Given the description of an element on the screen output the (x, y) to click on. 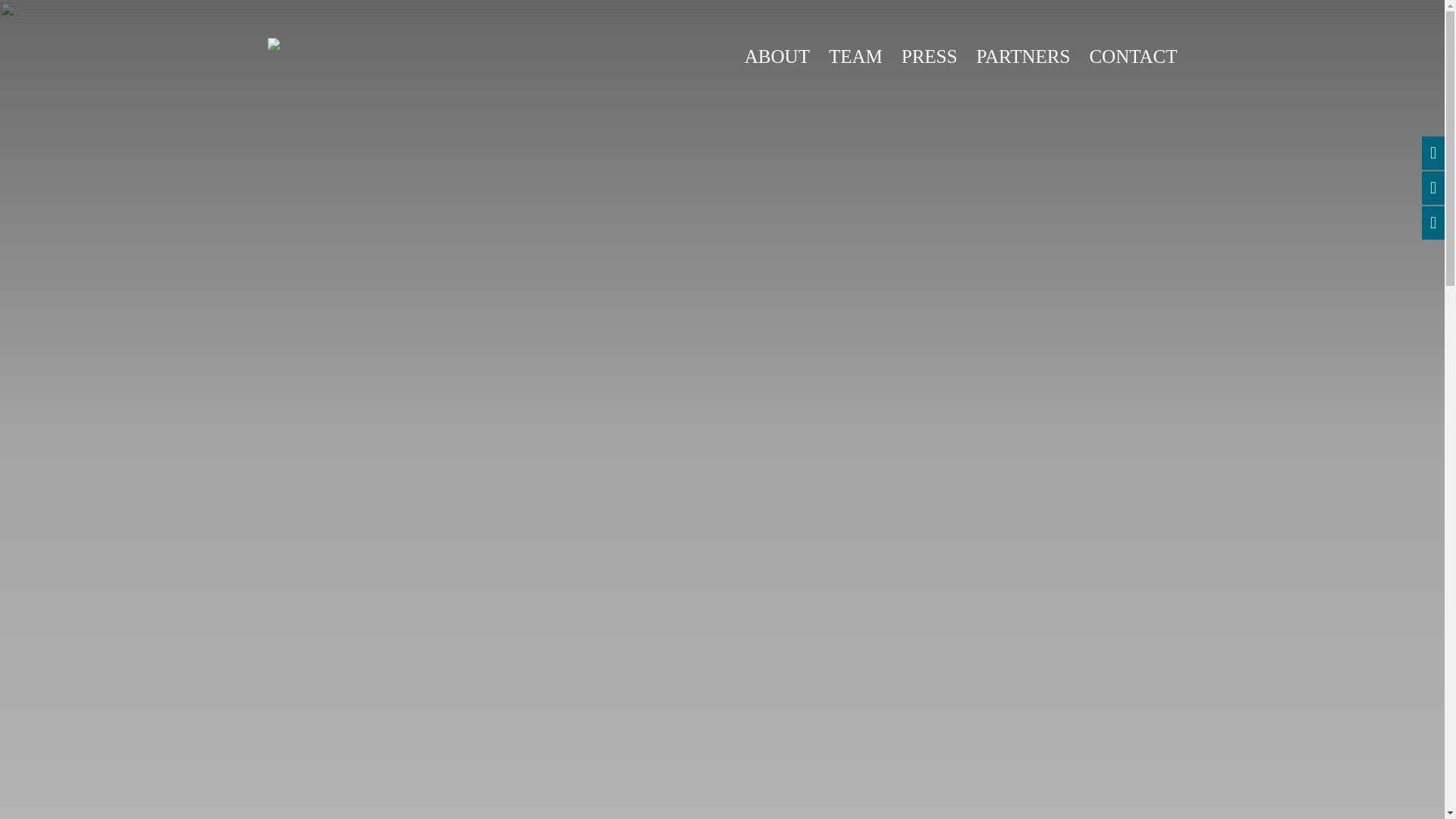
TEAM (855, 55)
PARTNERS (1022, 55)
CONTACT (1132, 55)
PRESS (929, 55)
ABOUT (776, 55)
